Given the description of an element on the screen output the (x, y) to click on. 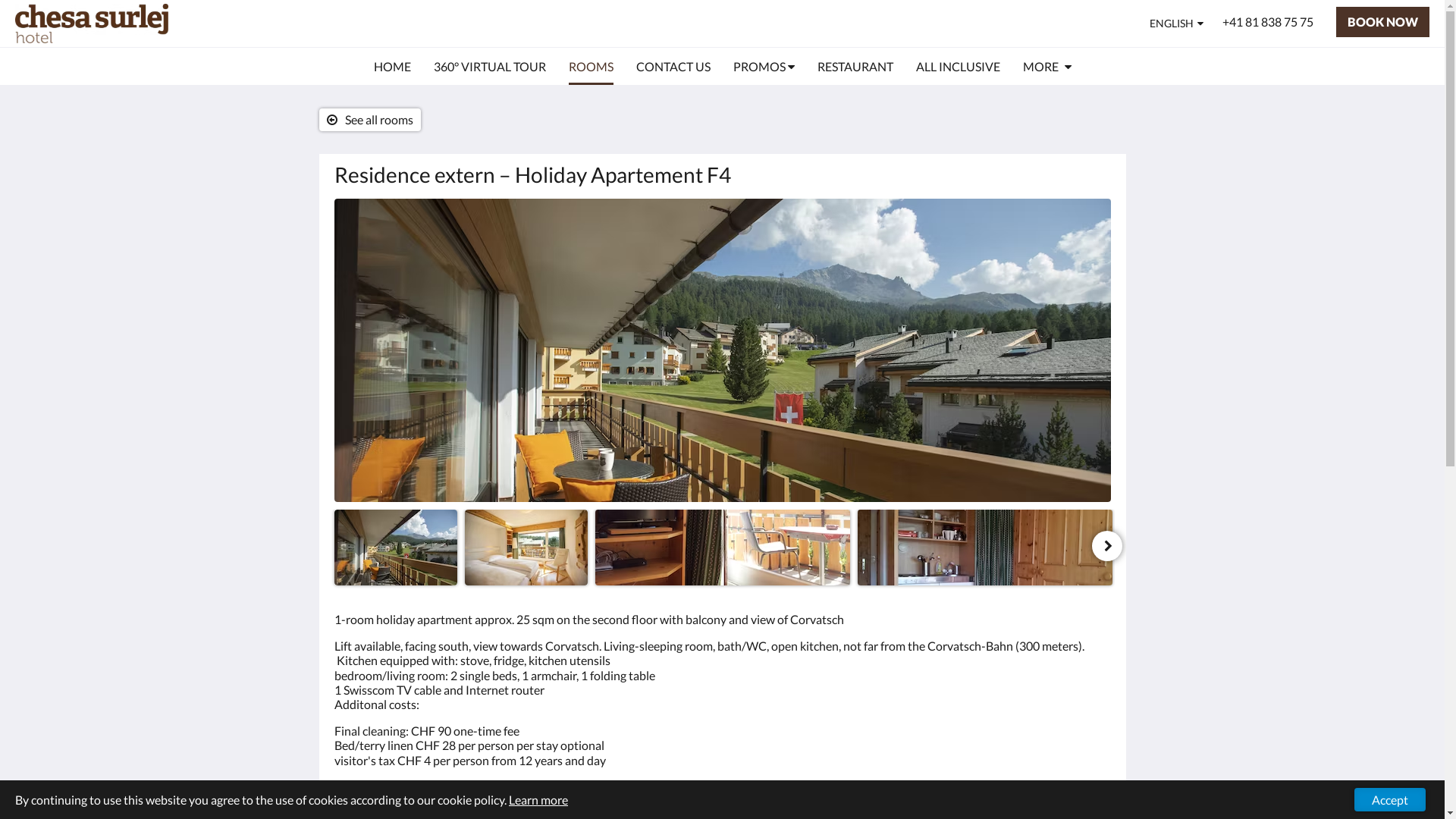
Accept Element type: text (1389, 799)
RESTAURANT Element type: text (855, 66)
See all rooms Element type: text (369, 119)
ALL INCLUSIVE Element type: text (958, 66)
ROOMS Element type: text (590, 66)
ENGLISH Element type: text (1176, 23)
click to zoom-in Element type: hover (983, 547)
CONTACT US Element type: text (672, 66)
PROMOS Element type: text (762, 66)
click to zoom-in Element type: hover (721, 350)
+41 81 838 75 75 Element type: text (1267, 21)
click to zoom-in Element type: hover (721, 547)
click to zoom-in Element type: hover (525, 547)
click to zoom-in Element type: hover (394, 547)
MORE Element type: text (1046, 66)
Learn more Element type: text (537, 799)
HOME Element type: text (391, 66)
BOOK NOW Element type: text (1382, 21)
